Given the description of an element on the screen output the (x, y) to click on. 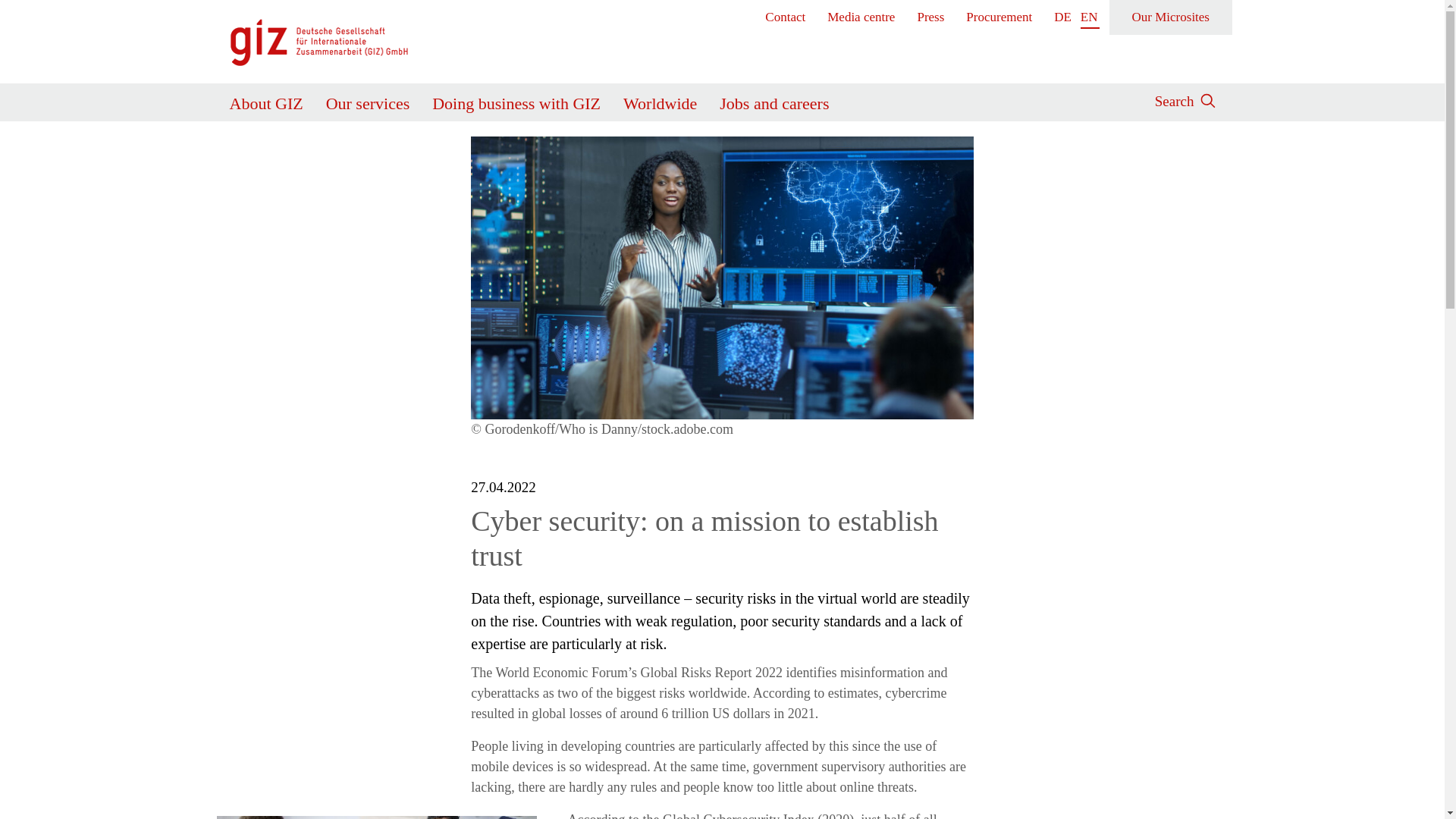
Media centre (861, 17)
DE (1063, 17)
Contact (785, 17)
Jobs and careers (773, 99)
About GIZ (265, 99)
Press (930, 17)
Search (1173, 98)
German (1063, 17)
English (1089, 17)
Our Microsites (1170, 17)
Worldwide (660, 99)
Search (986, 151)
EN (1089, 17)
Our services (368, 99)
Doing business with GIZ (515, 99)
